Given the description of an element on the screen output the (x, y) to click on. 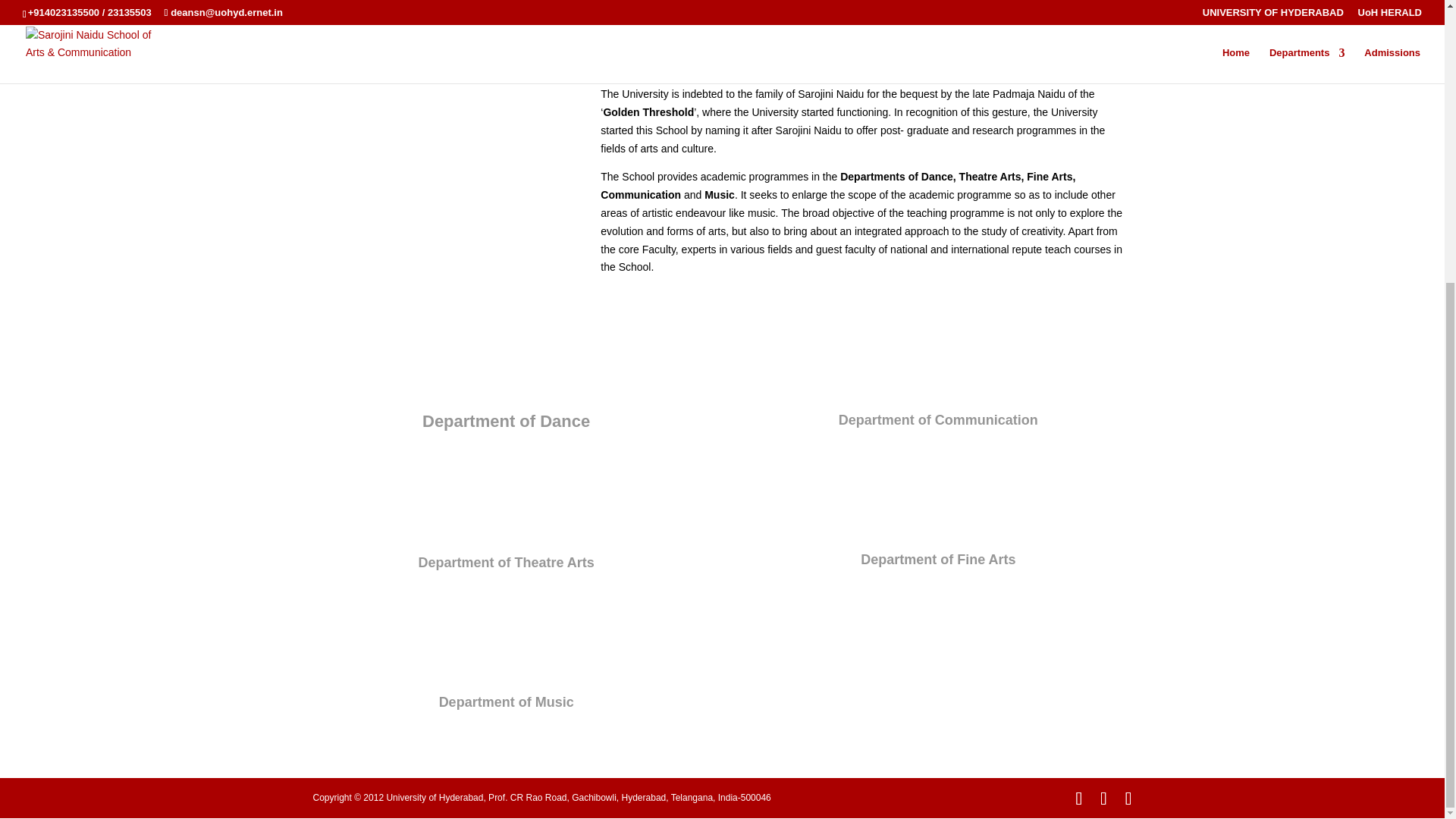
Department of Fine Arts (937, 559)
Department of Communication (938, 419)
Department of Music (506, 702)
Department of Theatre Arts (505, 562)
Department of Dance (505, 420)
